Given the description of an element on the screen output the (x, y) to click on. 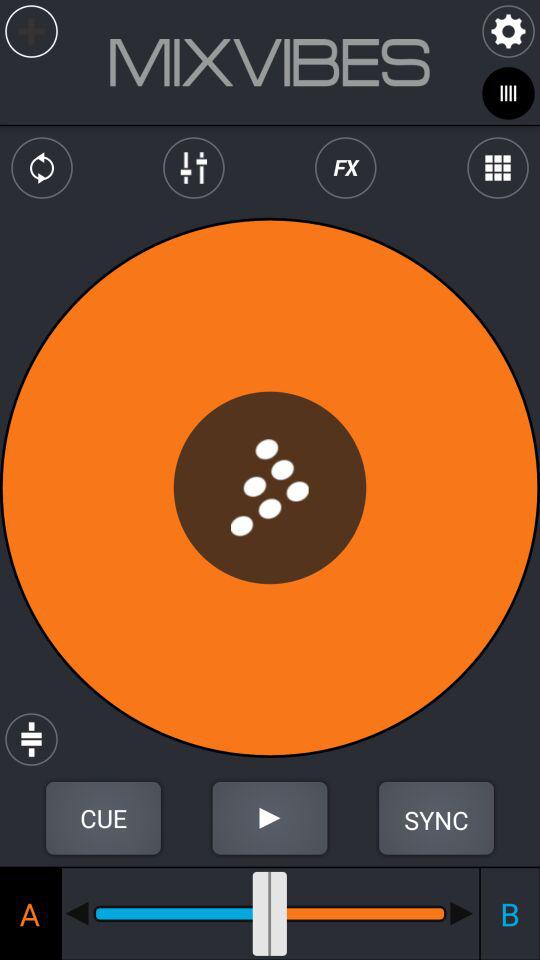
grid view (497, 167)
